Given the description of an element on the screen output the (x, y) to click on. 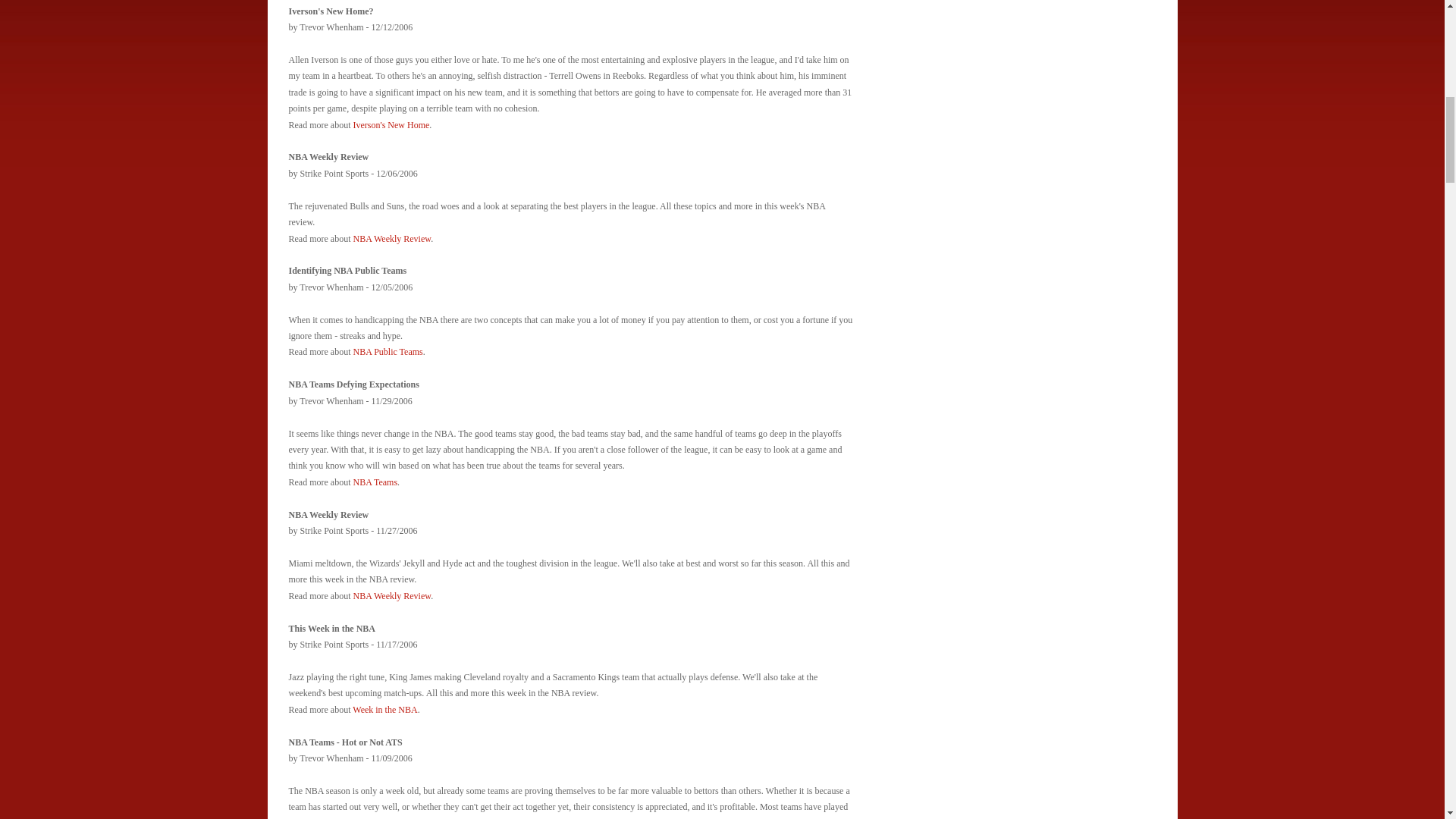
NBA Weekly Review (391, 238)
Week in the NBA (384, 709)
NBA Weekly Review (391, 595)
NBA Teams (374, 481)
Iverson's New Home (390, 124)
NBA Public Teams (387, 351)
